Given the description of an element on the screen output the (x, y) to click on. 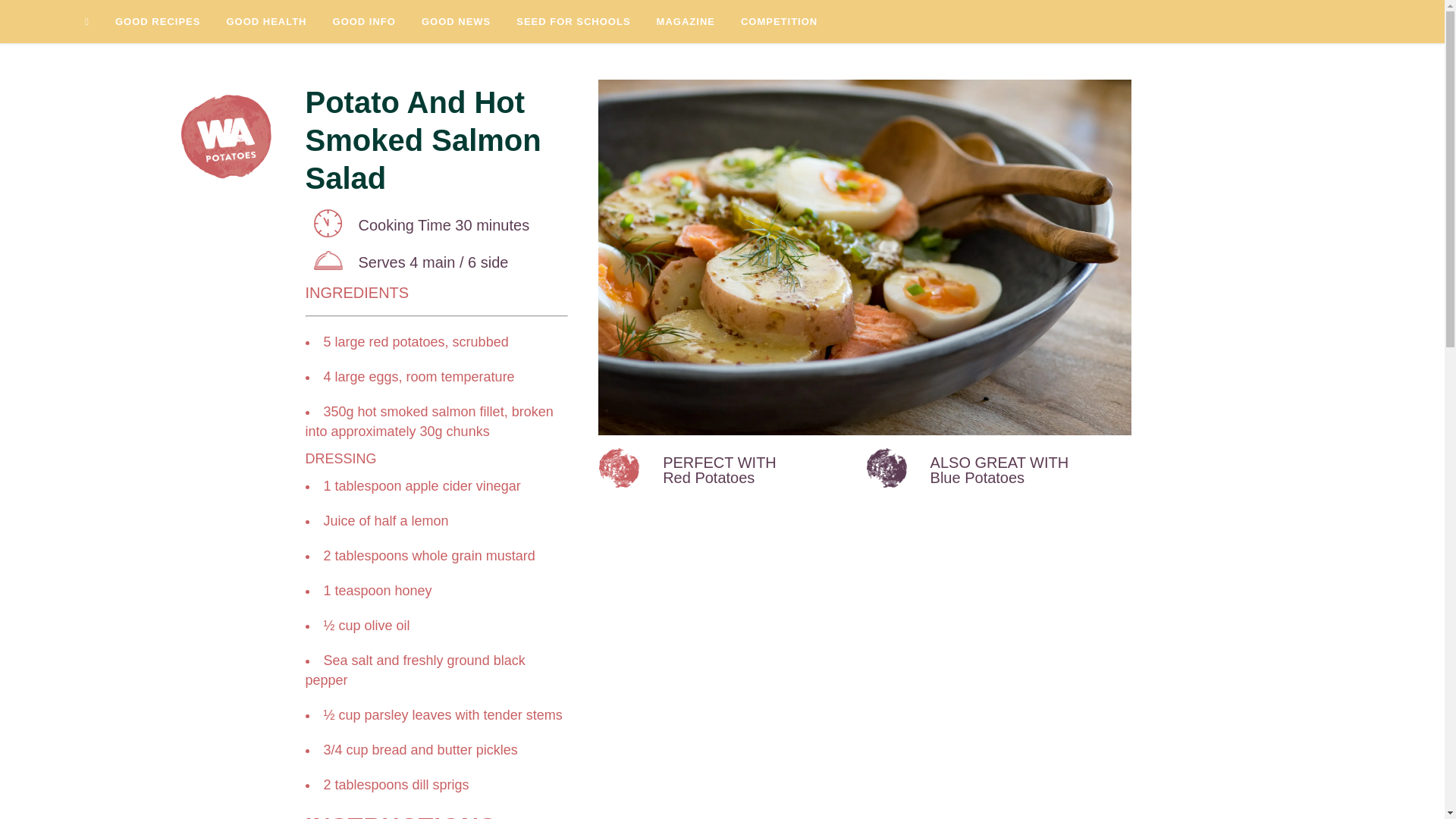
GOOD RECIPES (156, 21)
SEED FOR SCHOOLS (573, 21)
GOOD NEWS (456, 21)
GOOD HEALTH (265, 21)
MAGAZINE (685, 21)
COMPETITION (778, 21)
GOOD INFO (364, 21)
